Given the description of an element on the screen output the (x, y) to click on. 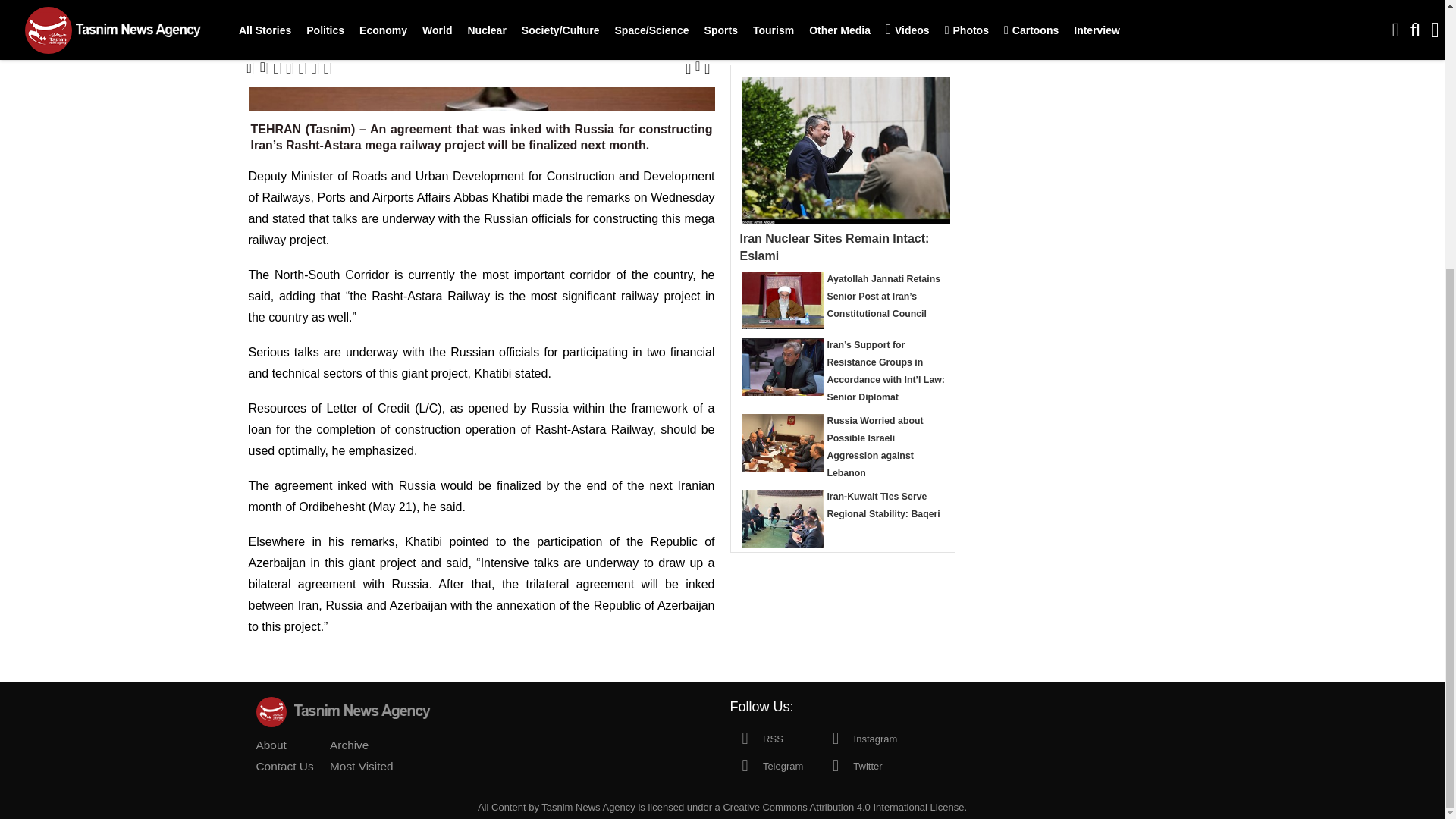
Instagram (858, 737)
Twitter (851, 765)
Telegram (766, 765)
RSS (756, 737)
